Given the description of an element on the screen output the (x, y) to click on. 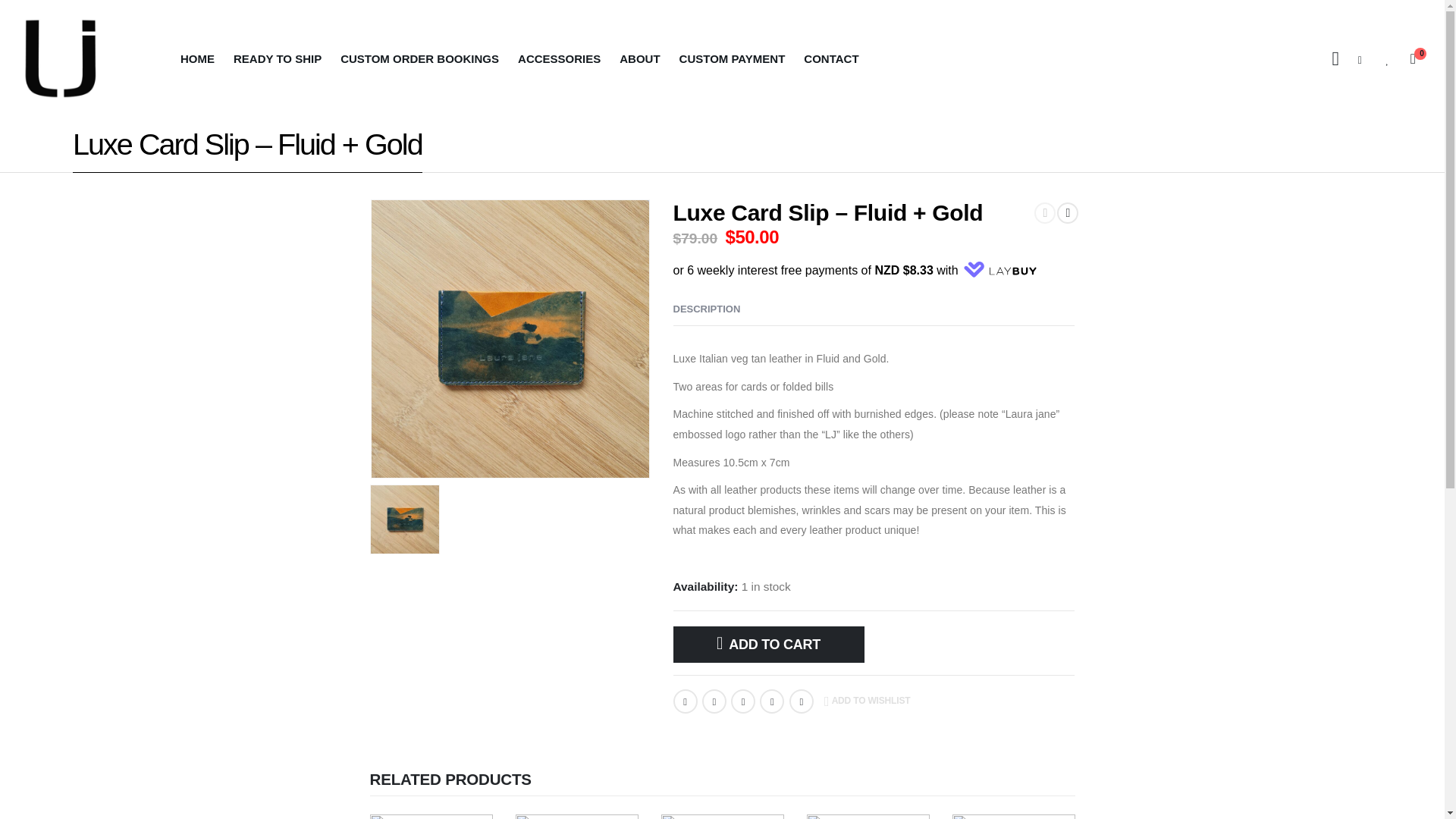
READY TO SHIP (277, 59)
HOME (197, 59)
OUT OF STOCK (431, 816)
ADD TO WISHLIST (867, 700)
CUSTOM PAYMENT (731, 59)
Email (801, 701)
OUT OF STOCK (577, 816)
ABOUT (639, 59)
Email (801, 701)
